Given the description of an element on the screen output the (x, y) to click on. 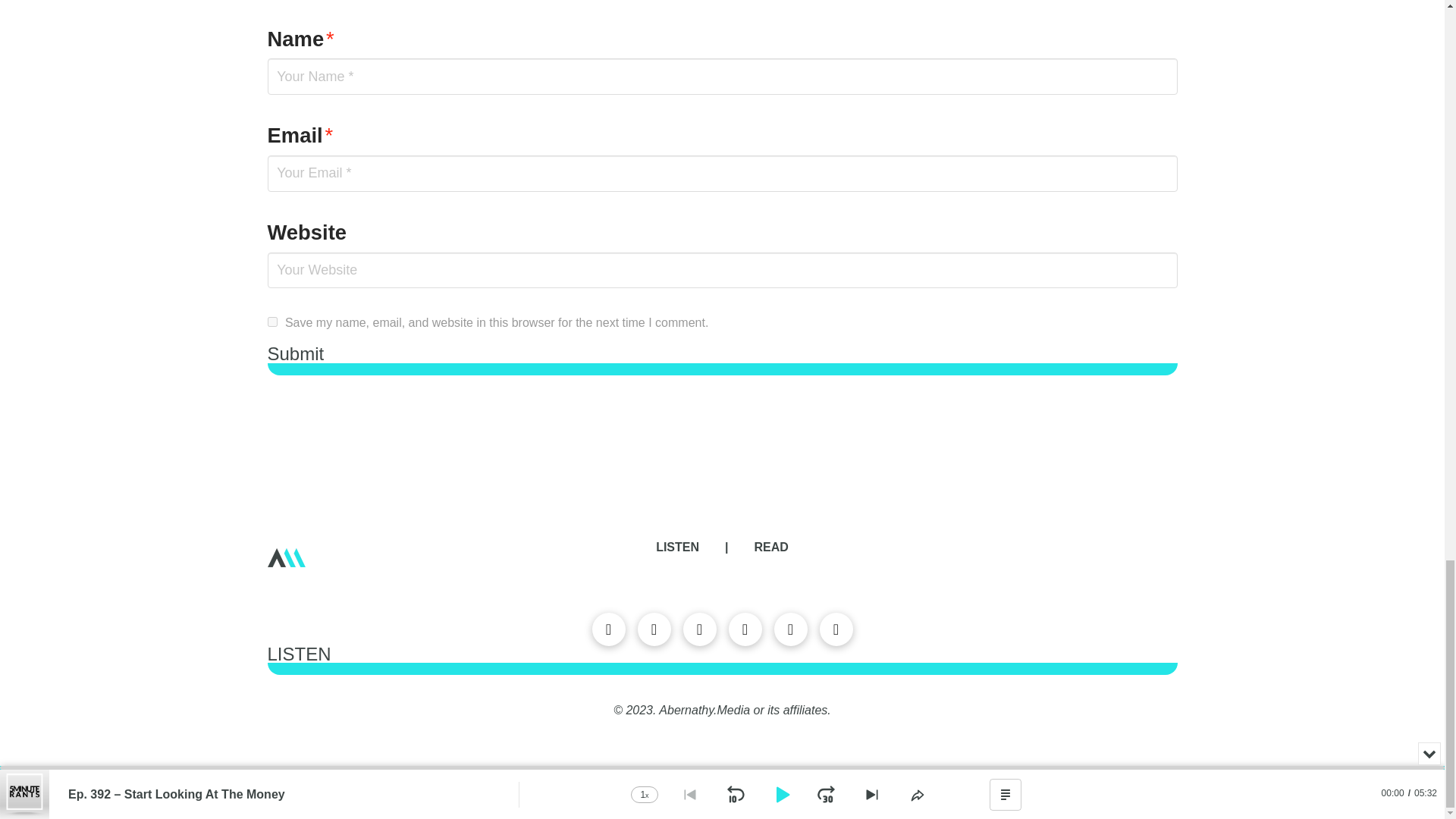
yes (271, 321)
